Given the description of an element on the screen output the (x, y) to click on. 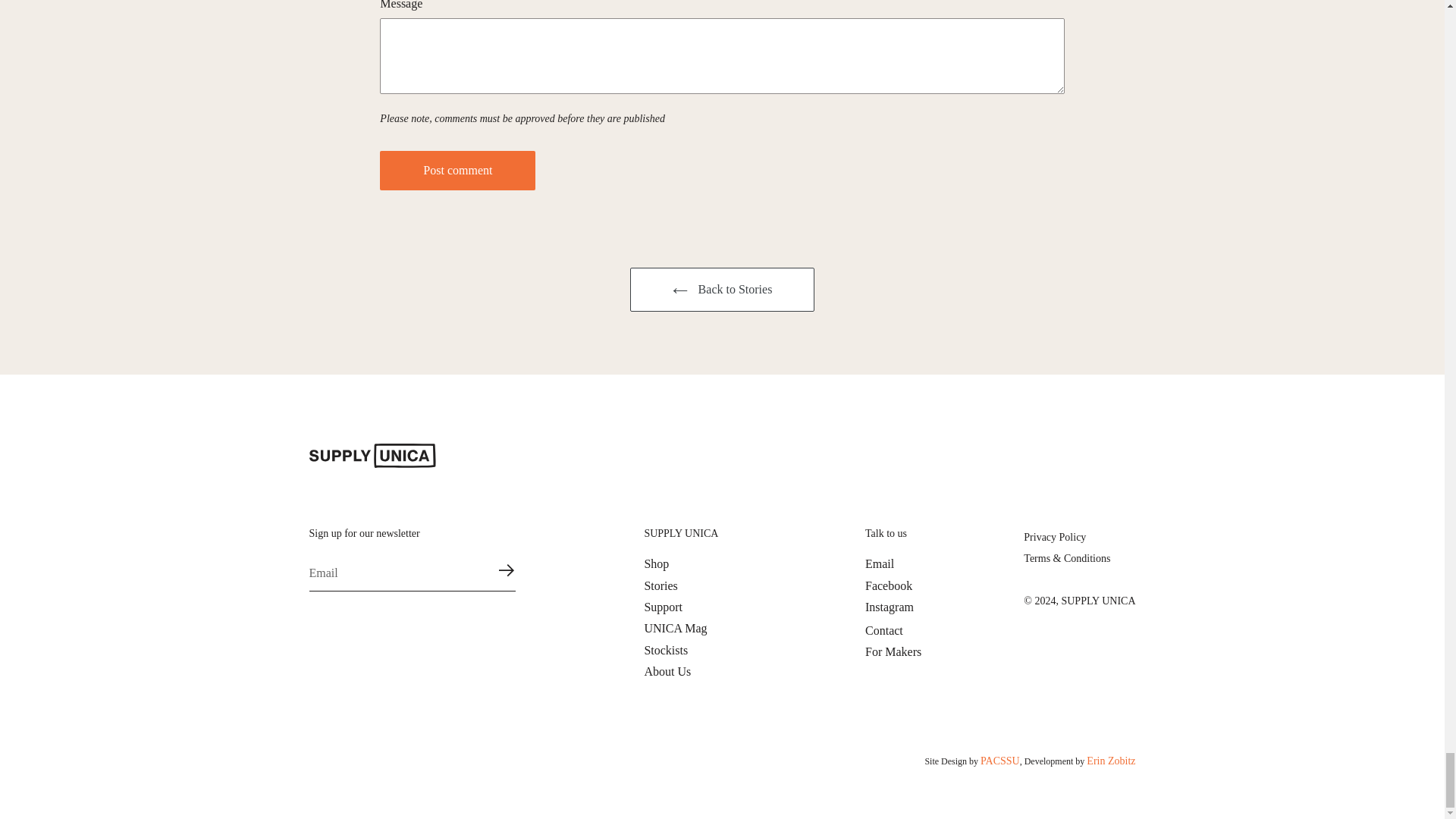
Post comment (457, 169)
